Given the description of an element on the screen output the (x, y) to click on. 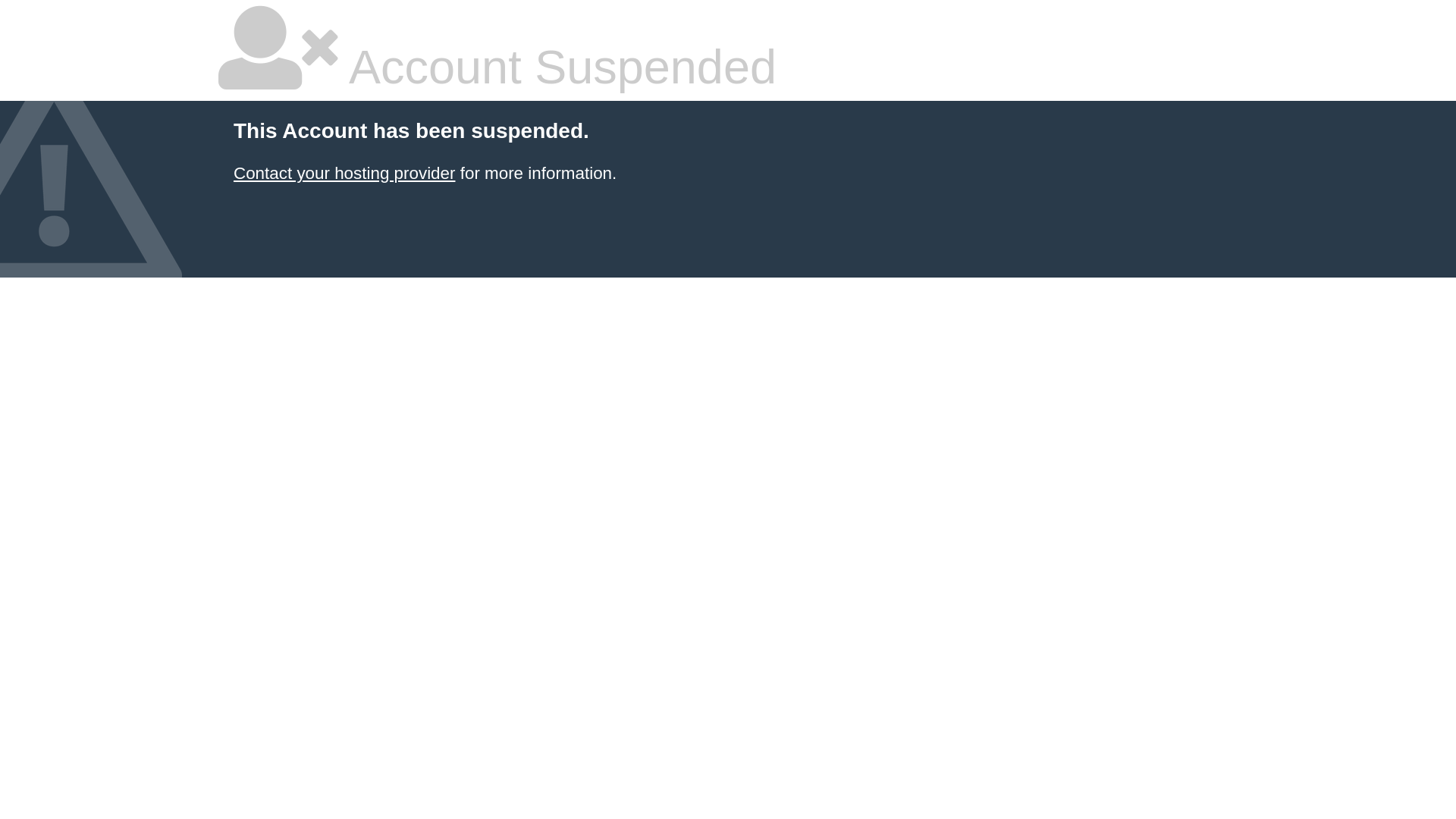
Contact your hosting provider Element type: text (344, 172)
